Given the description of an element on the screen output the (x, y) to click on. 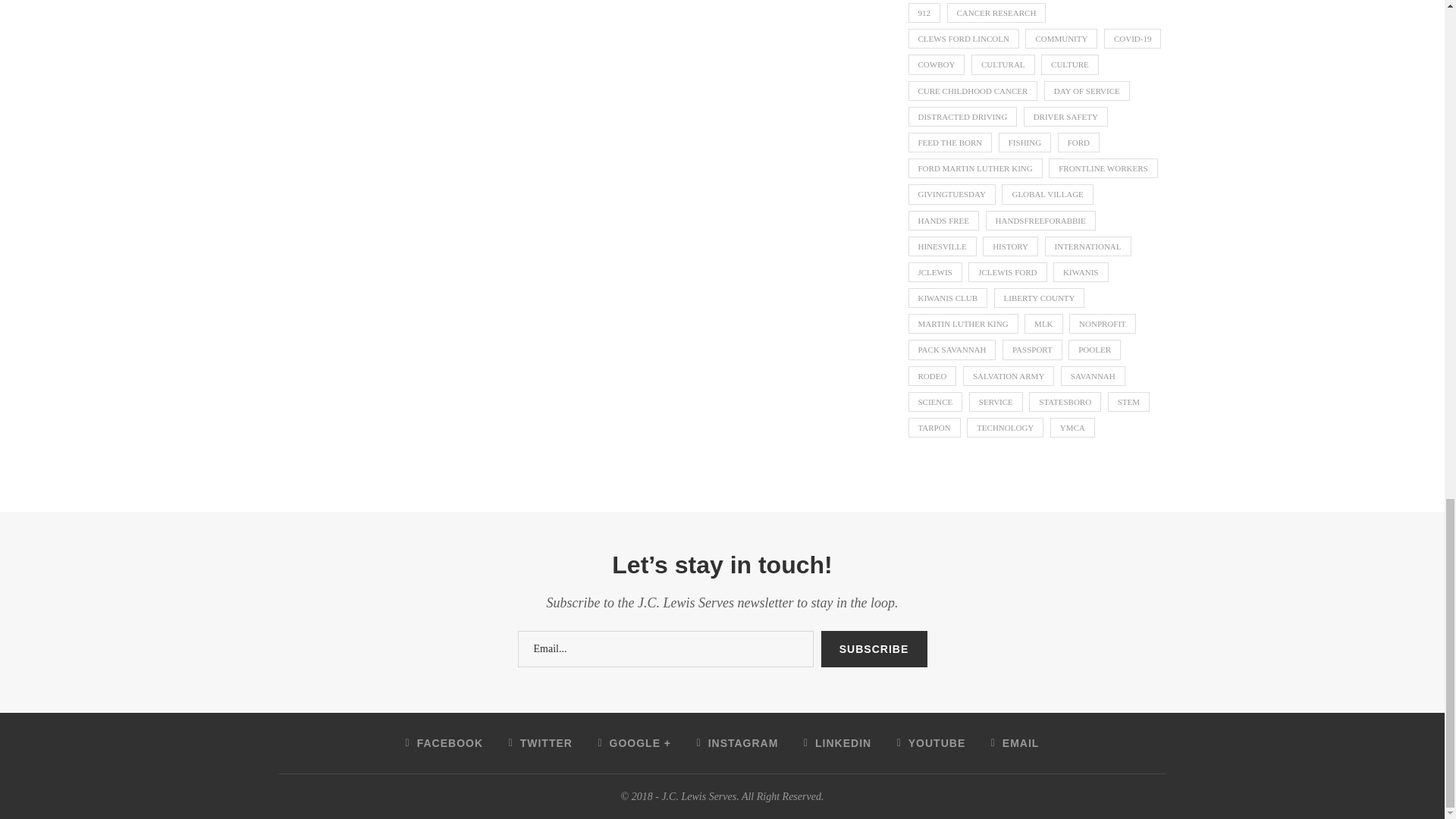
Subscribe (873, 648)
